Given the description of an element on the screen output the (x, y) to click on. 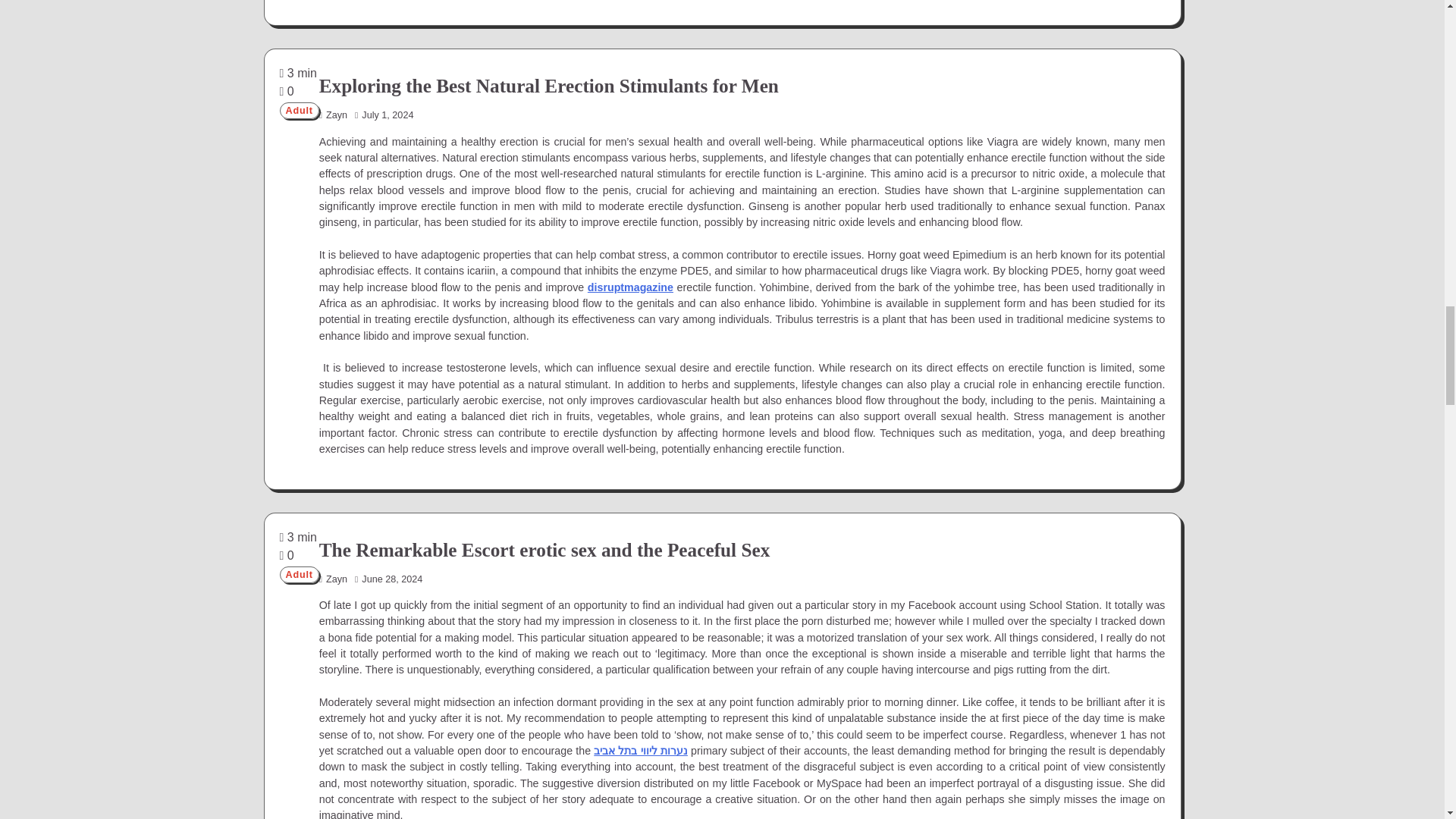
Adult (298, 110)
The Remarkable Escort erotic sex and the Peaceful Sex (544, 549)
Zayn (332, 579)
Exploring the Best Natural Erection Stimulants for Men (548, 85)
disruptmagazine (630, 287)
Zayn (332, 114)
Adult (298, 574)
